Given the description of an element on the screen output the (x, y) to click on. 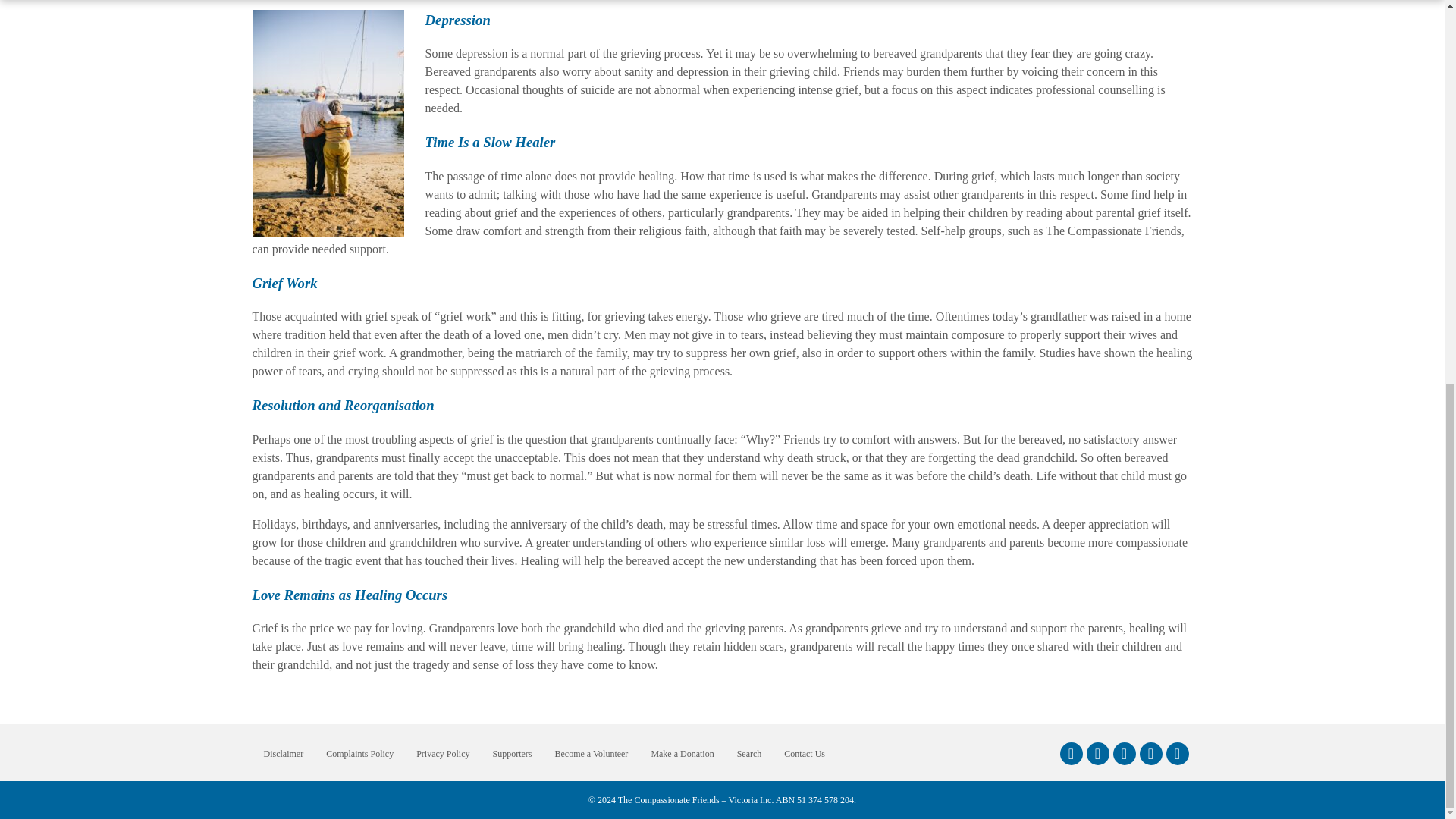
Sibling Chat (1177, 753)
Linkedin (1149, 753)
Facebook (1071, 753)
Instagram (1097, 753)
Twitter (1124, 753)
